Given the description of an element on the screen output the (x, y) to click on. 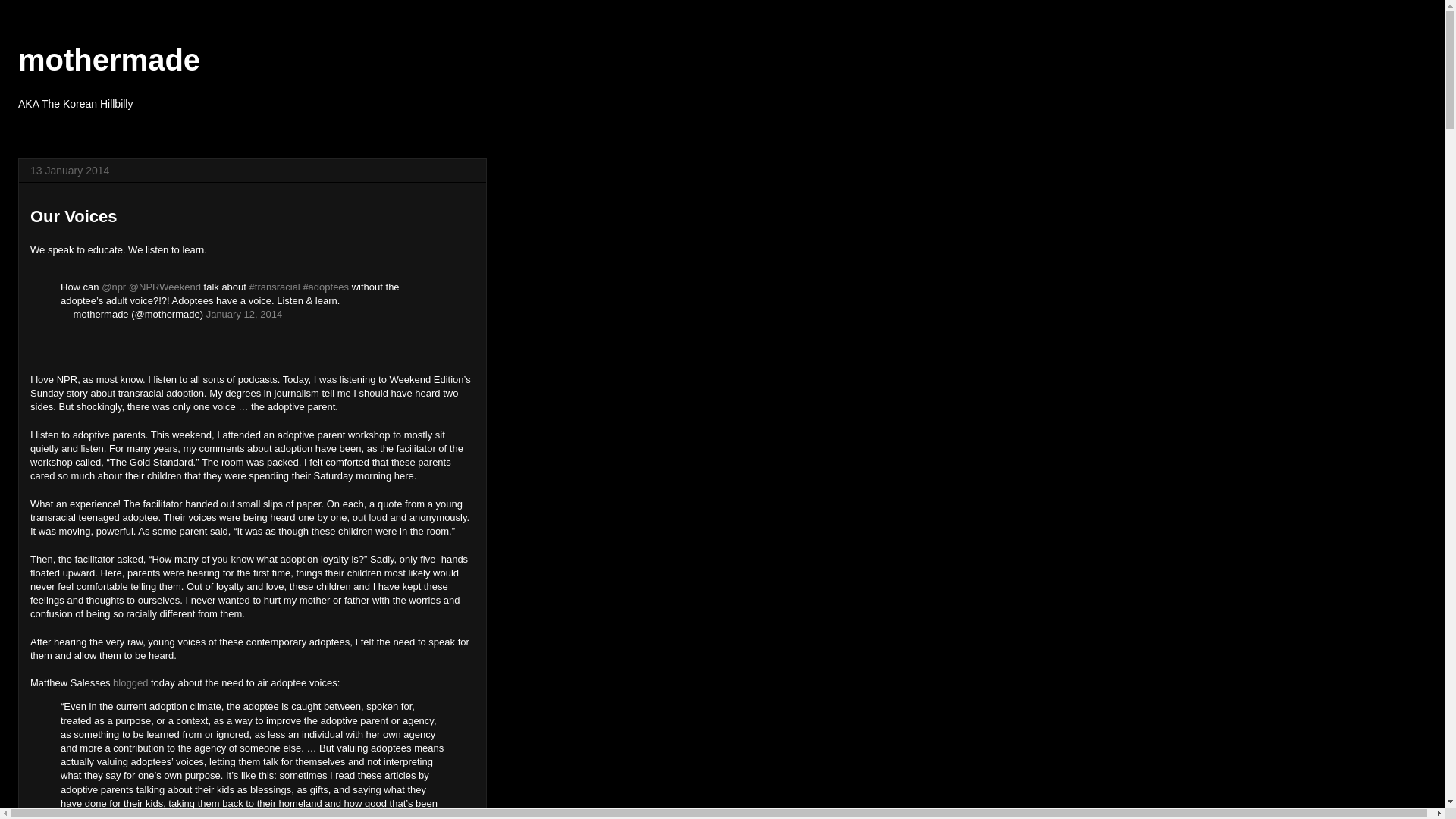
mothermade (108, 59)
January 12, 2014 (244, 314)
blogged (130, 682)
